Given the description of an element on the screen output the (x, y) to click on. 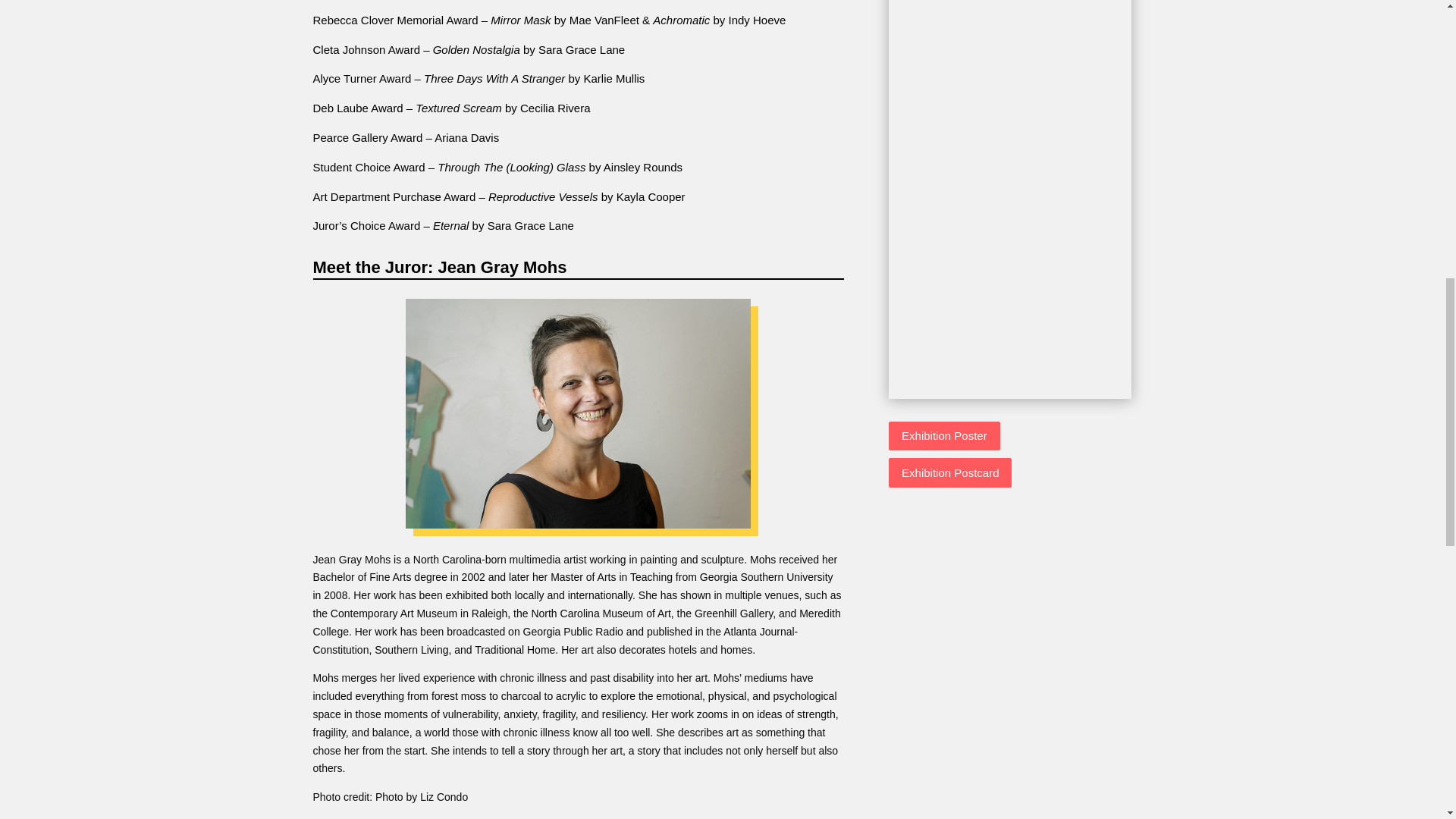
Exhibition Postcard (949, 472)
Exhibition Poster (944, 436)
Jean Gray Mohs (578, 413)
